Given the description of an element on the screen output the (x, y) to click on. 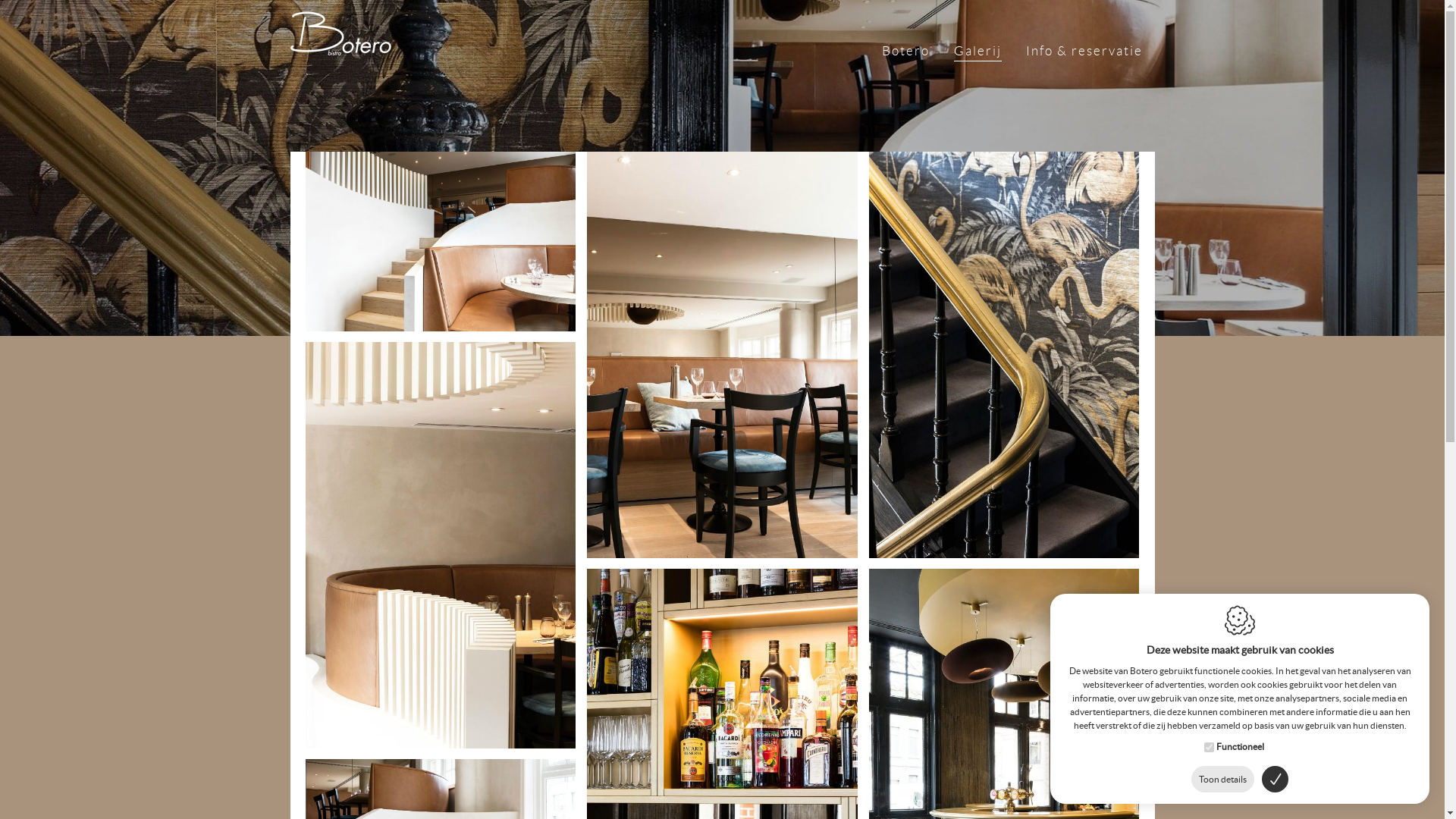
Info & reservatie Element type: text (1083, 52)
Galerij Element type: text (977, 52)
Botero Element type: text (904, 52)
Toon details Element type: text (1222, 778)
